Given the description of an element on the screen output the (x, y) to click on. 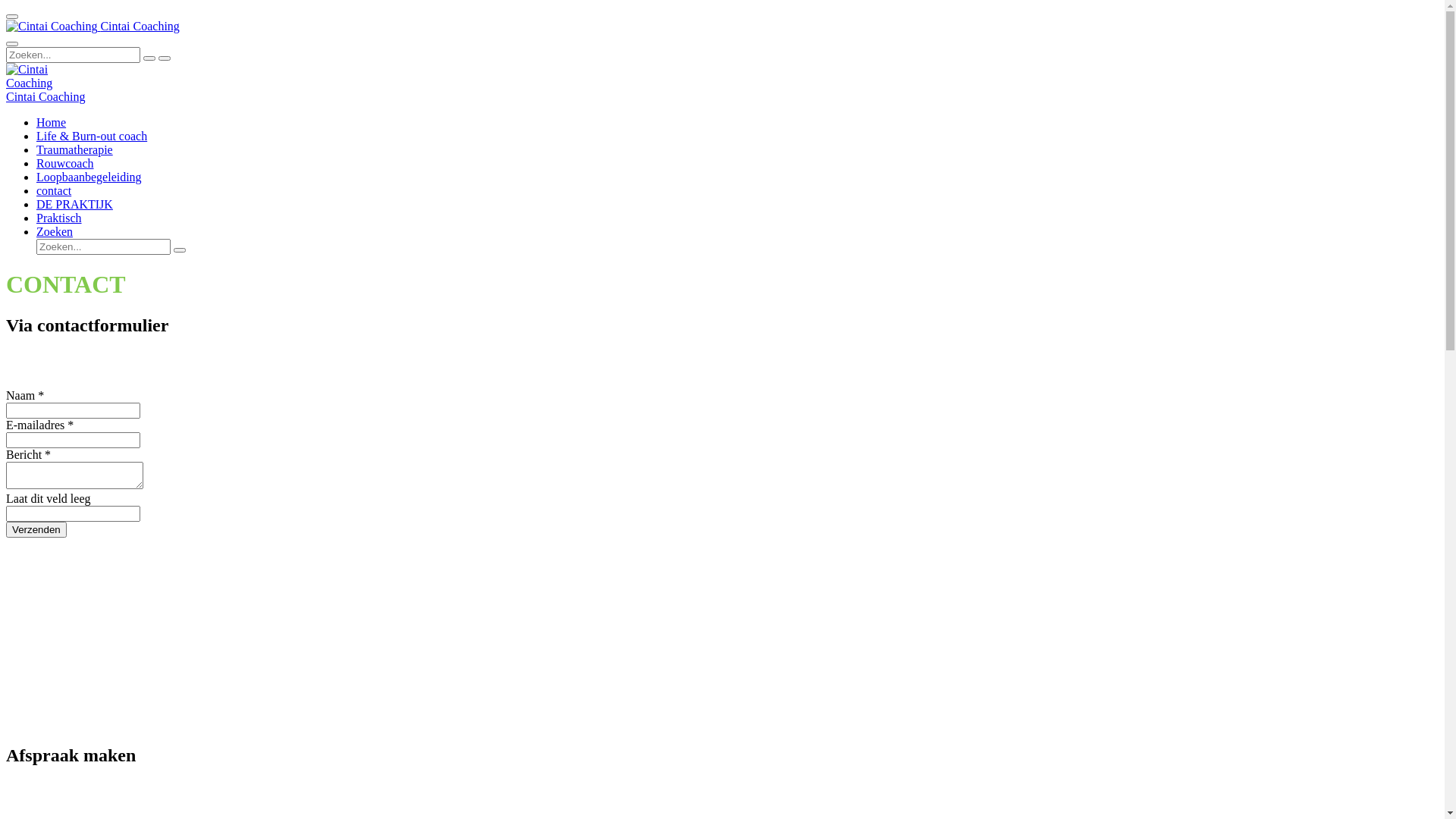
Cintai Coaching Element type: text (45, 96)
Praktisch Element type: text (58, 217)
Rouwcoach Element type: text (65, 162)
Life & Burn-out coach Element type: text (91, 135)
Loopbaanbegeleiding Element type: text (88, 176)
Verzenden Element type: text (36, 529)
Home Element type: text (50, 122)
Cintai Coaching Element type: hover (51, 26)
Traumatherapie Element type: text (74, 149)
contact Element type: text (53, 190)
Cintai Coaching Element type: text (92, 25)
Cintai Coaching Element type: hover (45, 76)
Zoeken Element type: text (54, 231)
DE PRAKTIJK Element type: text (74, 203)
